Given the description of an element on the screen output the (x, y) to click on. 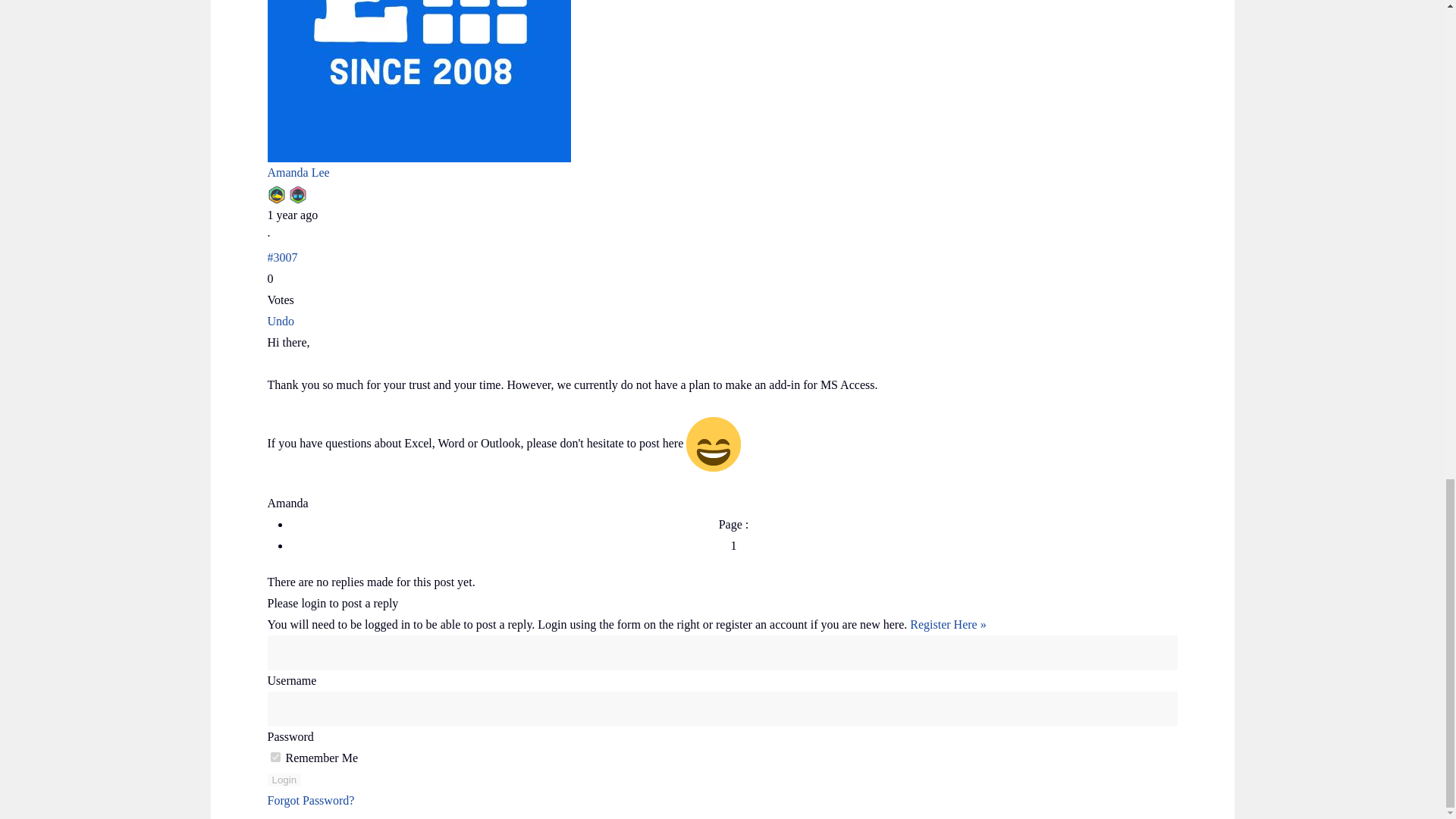
Login (283, 779)
yes (274, 757)
